Given the description of an element on the screen output the (x, y) to click on. 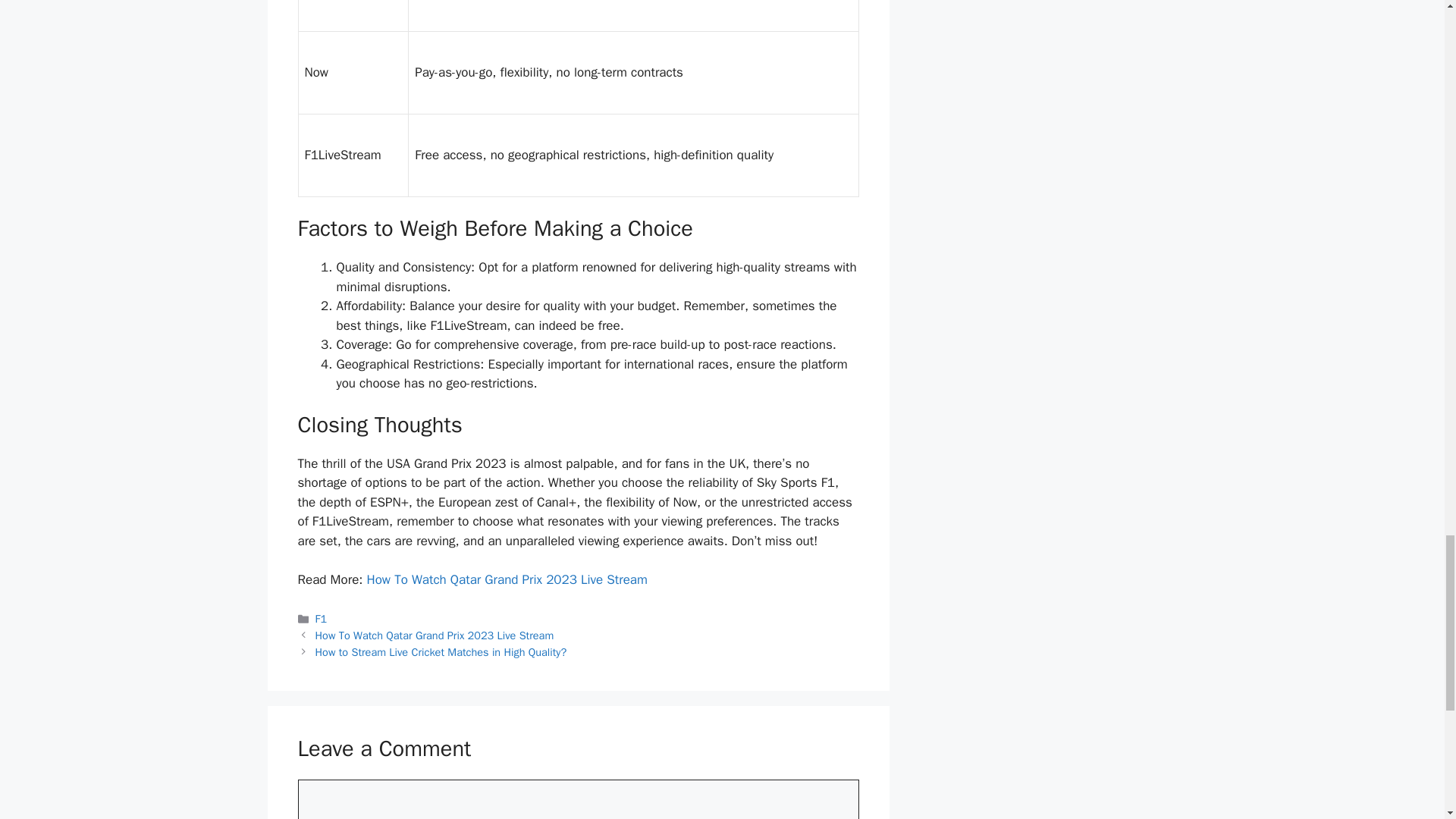
How To Watch Qatar Grand Prix 2023 Live Stream (434, 635)
How To Watch Qatar Grand Prix 2023 Live Stream (506, 579)
F1 (321, 618)
How to Stream Live Cricket Matches in High Quality? (441, 652)
